Given the description of an element on the screen output the (x, y) to click on. 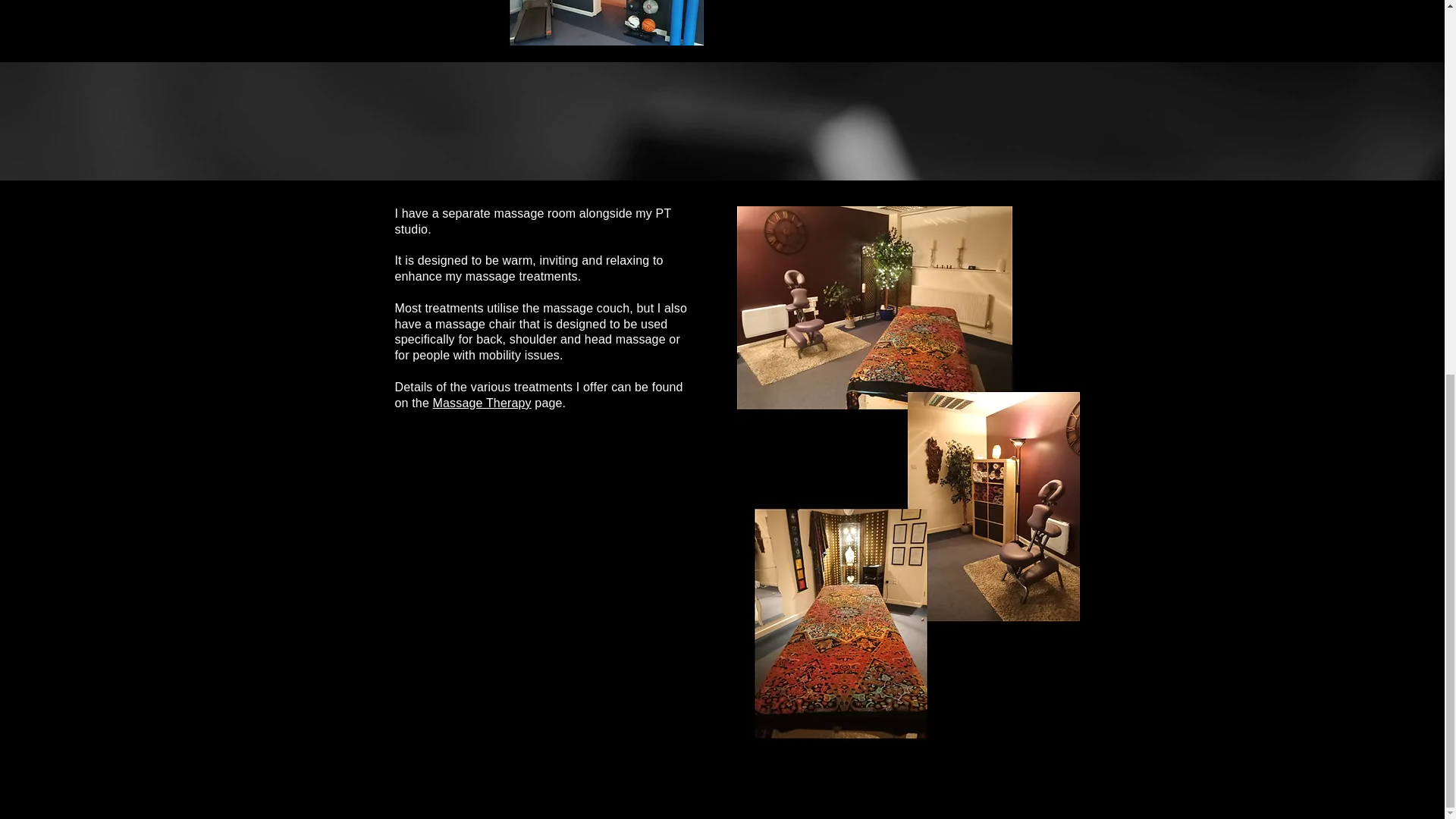
Massage Therapy (481, 402)
